Given the description of an element on the screen output the (x, y) to click on. 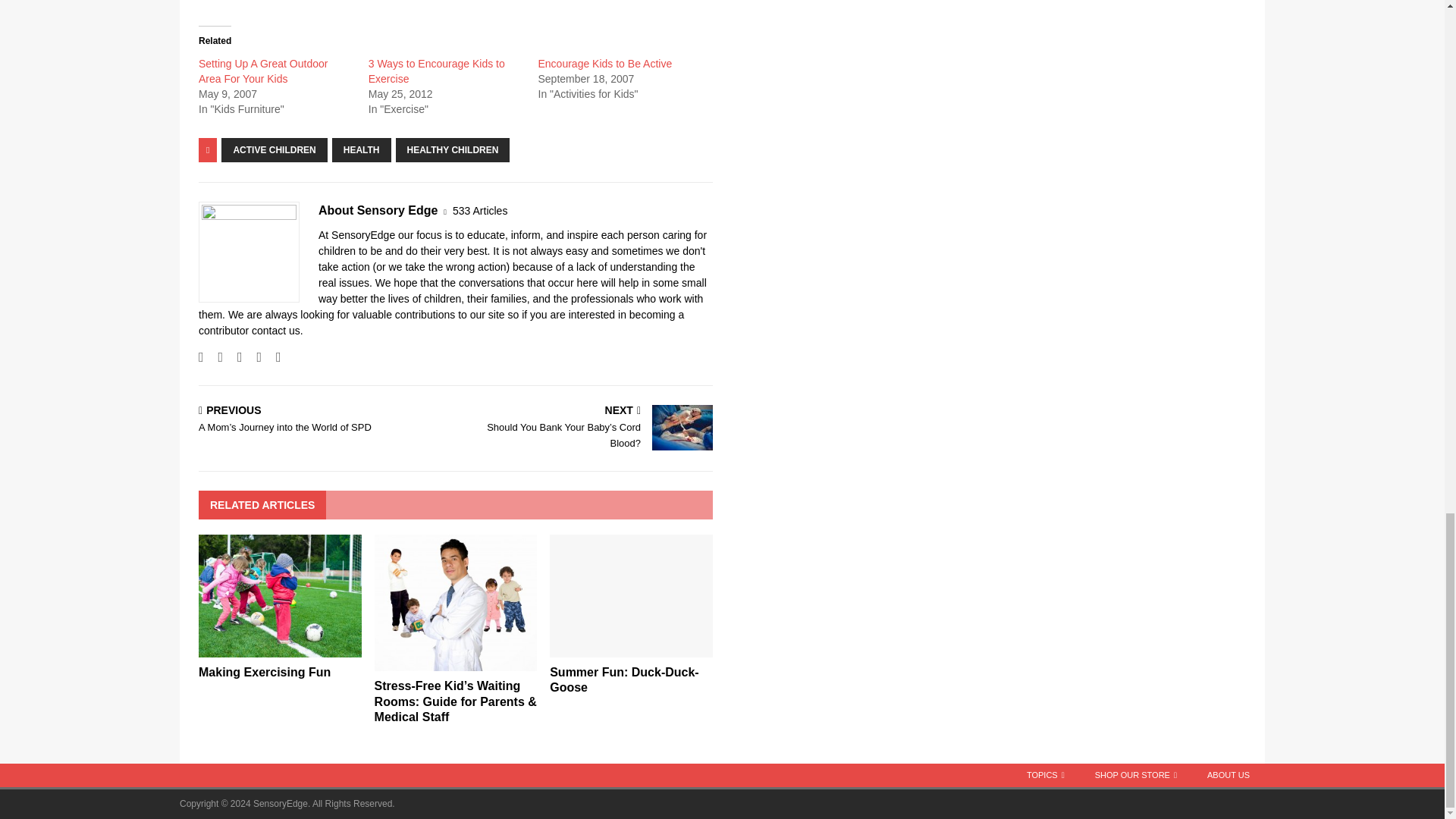
Encourage Kids to Be Active (605, 63)
3 Ways to Encourage Kids to Exercise (436, 71)
Setting Up A Great Outdoor Area For Your Kids (262, 71)
